Given the description of an element on the screen output the (x, y) to click on. 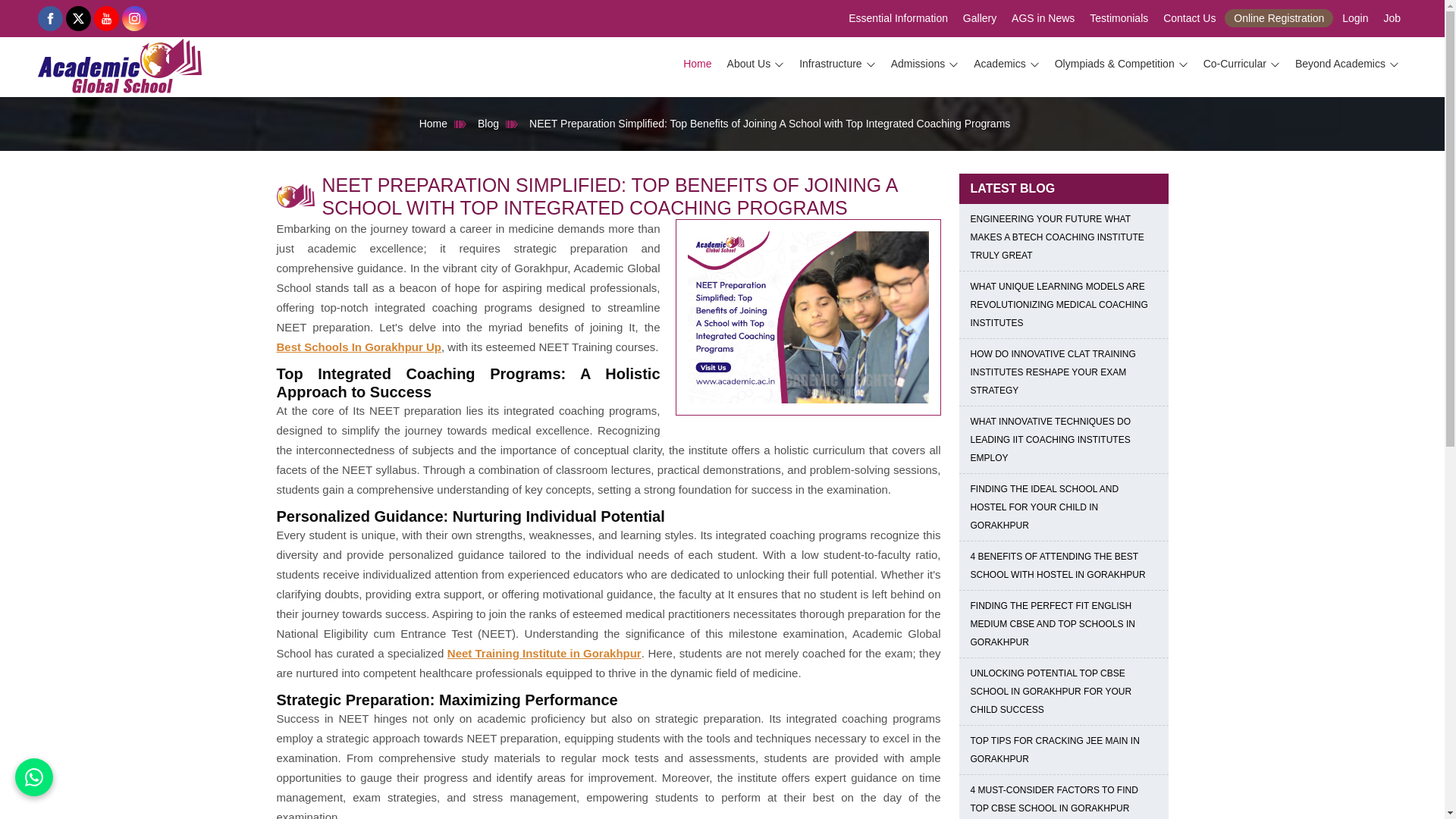
AGS in News (1043, 18)
Online Registration (1278, 18)
Contact Us (1189, 18)
Login (1355, 18)
Twitter (77, 18)
Infrastructure (837, 63)
Essential Information (898, 18)
Contact Us (1189, 18)
Online Registration (1278, 18)
Testimonials (1118, 18)
